Given the description of an element on the screen output the (x, y) to click on. 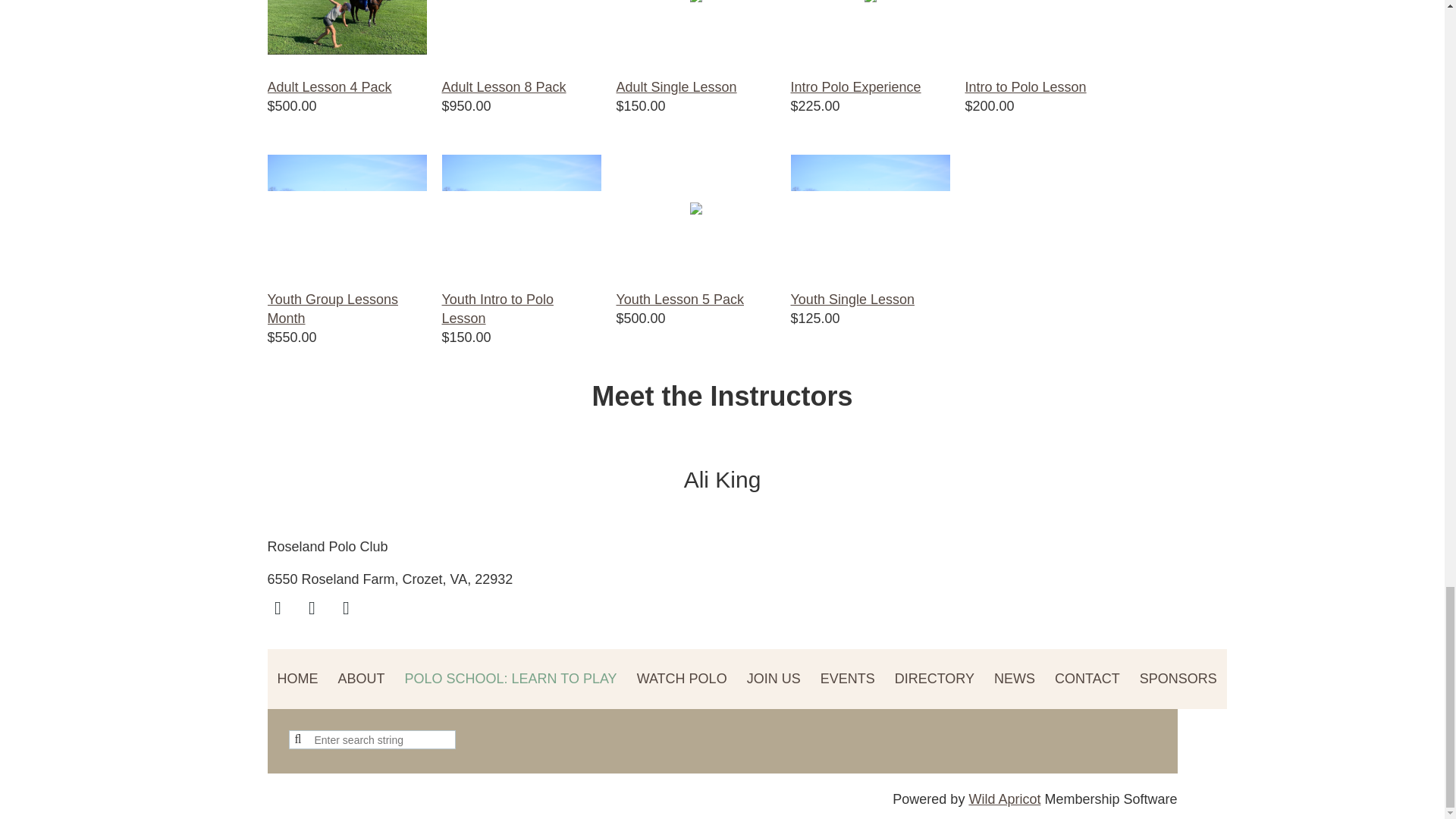
Adult Lesson 8 Pack (503, 87)
Youth Group Lessons Month (331, 308)
Intro Polo Experience (855, 87)
Adult Lesson 4 Pack (328, 87)
Adult Single Lesson (675, 87)
Intro to Polo Lesson (1024, 87)
